Given the description of an element on the screen output the (x, y) to click on. 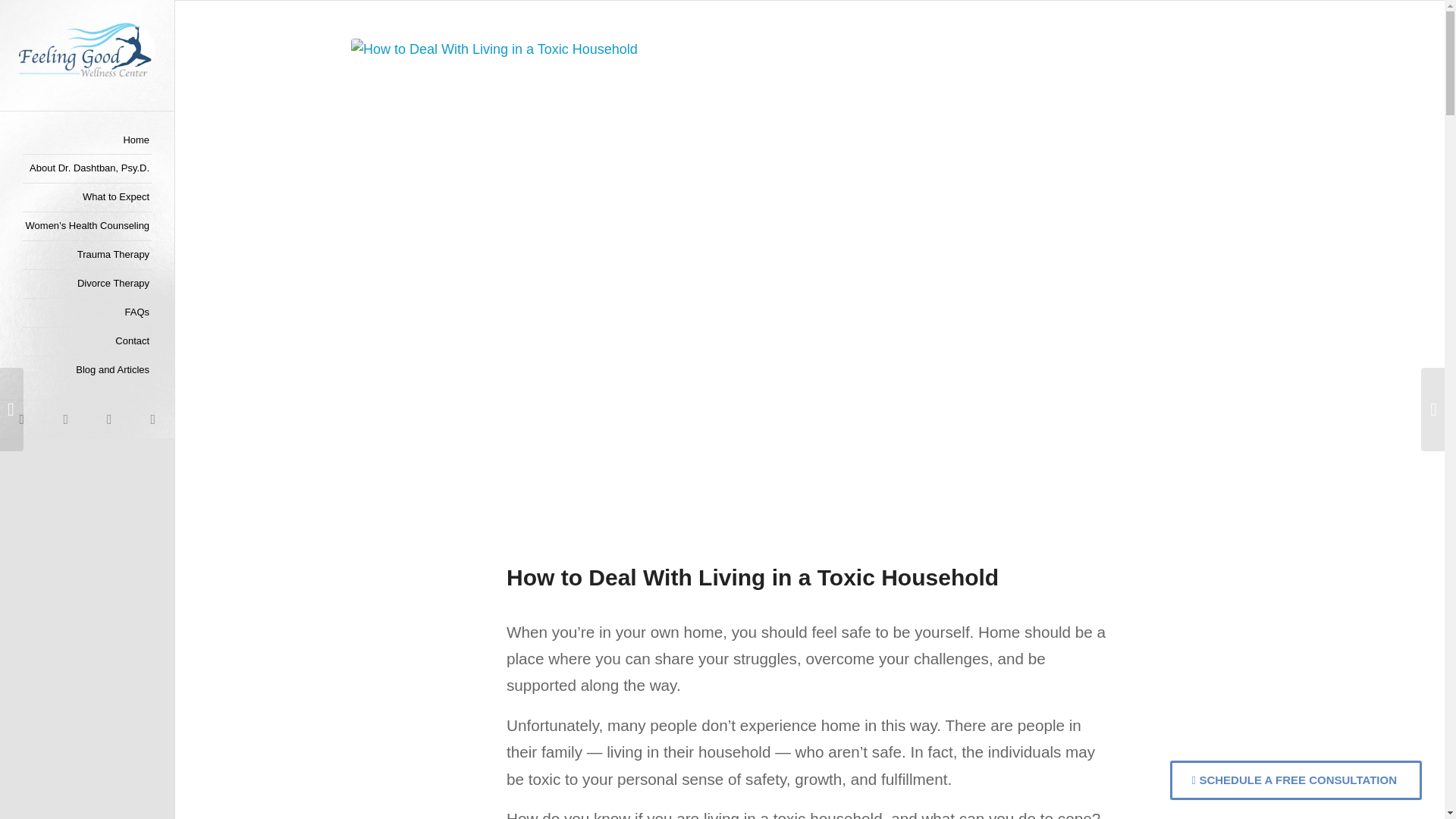
FAQs (87, 312)
Facebook (152, 419)
Home (87, 140)
Divorce Therapy (87, 284)
X (109, 419)
Trauma Therapy (87, 255)
Blog and Articles (87, 370)
About Dr. Dashtban, Psy.D. (87, 168)
therapy-logo (86, 49)
What to Expect (87, 197)
Contact (87, 341)
LinkedIn (65, 419)
Youtube (21, 419)
